Given the description of an element on the screen output the (x, y) to click on. 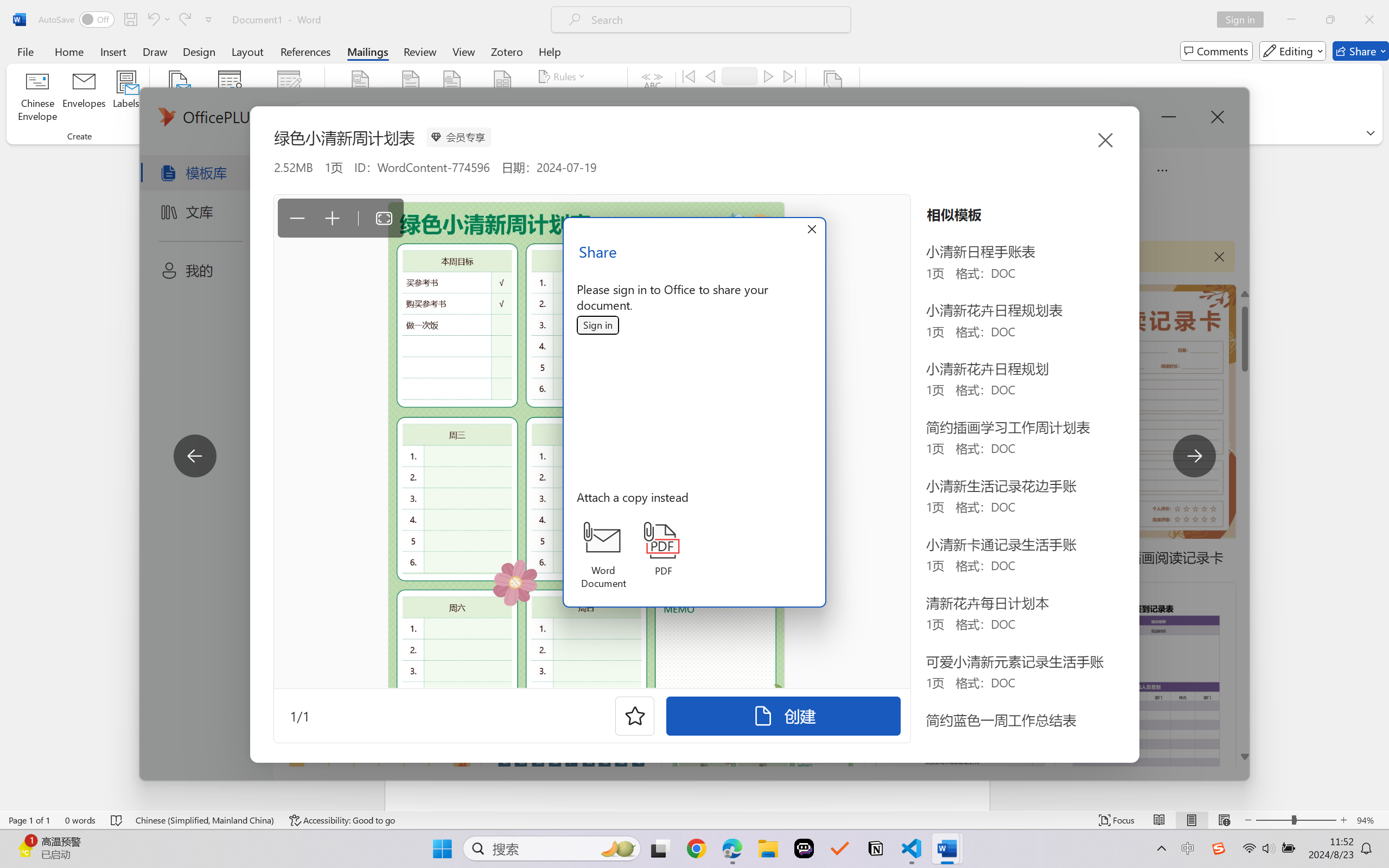
Find Recipient... (723, 97)
Record (739, 76)
First (688, 75)
Address Block... (410, 97)
Preview Results (652, 97)
Language Chinese (Simplified, Mainland China) (205, 819)
